Given the description of an element on the screen output the (x, y) to click on. 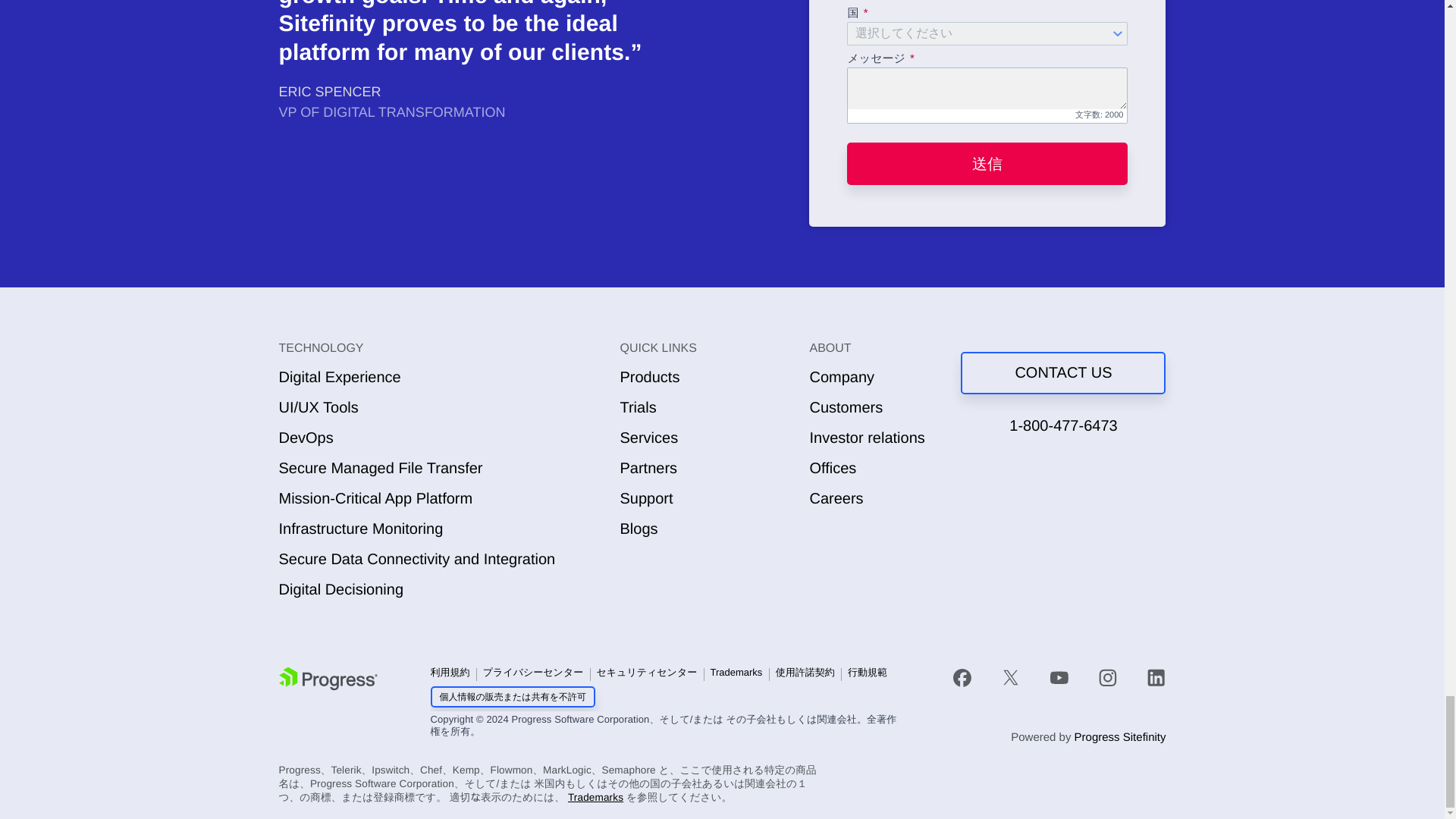
Facebook (962, 678)
instagram (1107, 677)
youtube (1059, 677)
Progress (328, 678)
X (1011, 677)
LinkedIn (1156, 678)
X (1010, 678)
YouTube (1058, 678)
linkedin (1149, 677)
facebook (970, 677)
